Given the description of an element on the screen output the (x, y) to click on. 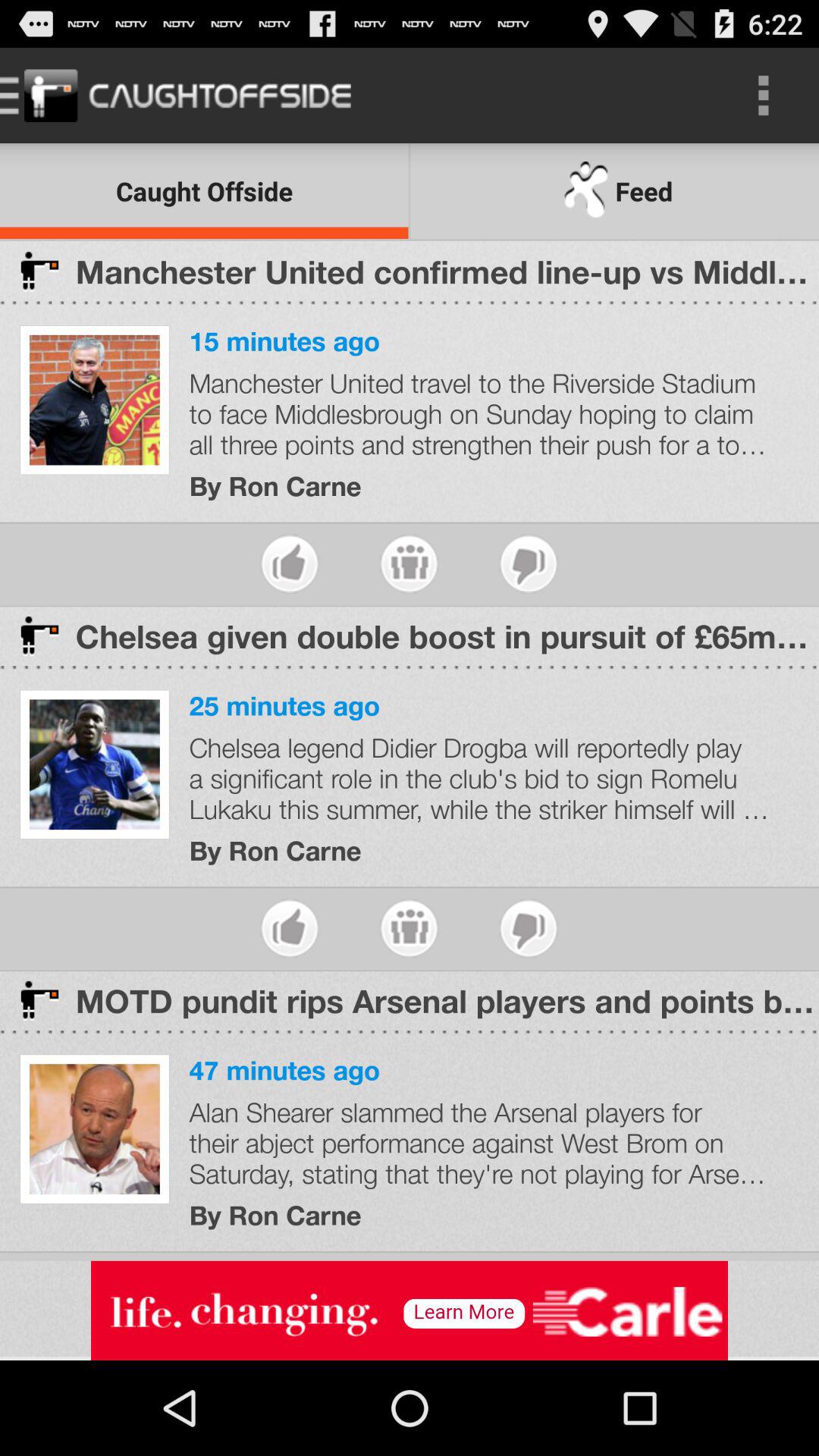
share story (409, 563)
